Given the description of an element on the screen output the (x, y) to click on. 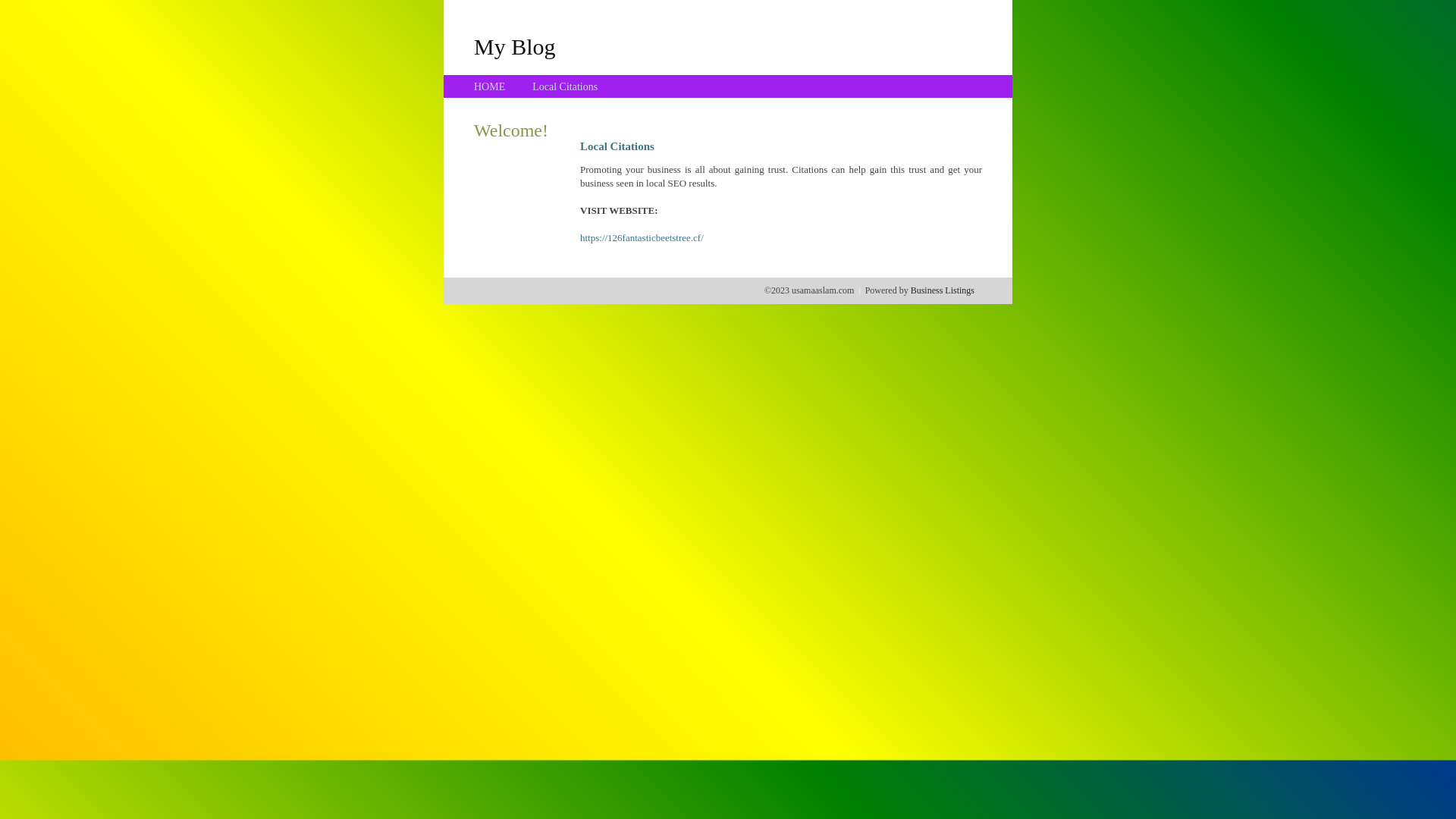
Local Citations Element type: text (564, 86)
HOME Element type: text (489, 86)
https://126fantasticbeetstree.cf/ Element type: text (641, 237)
My Blog Element type: text (514, 46)
Business Listings Element type: text (942, 290)
